Given the description of an element on the screen output the (x, y) to click on. 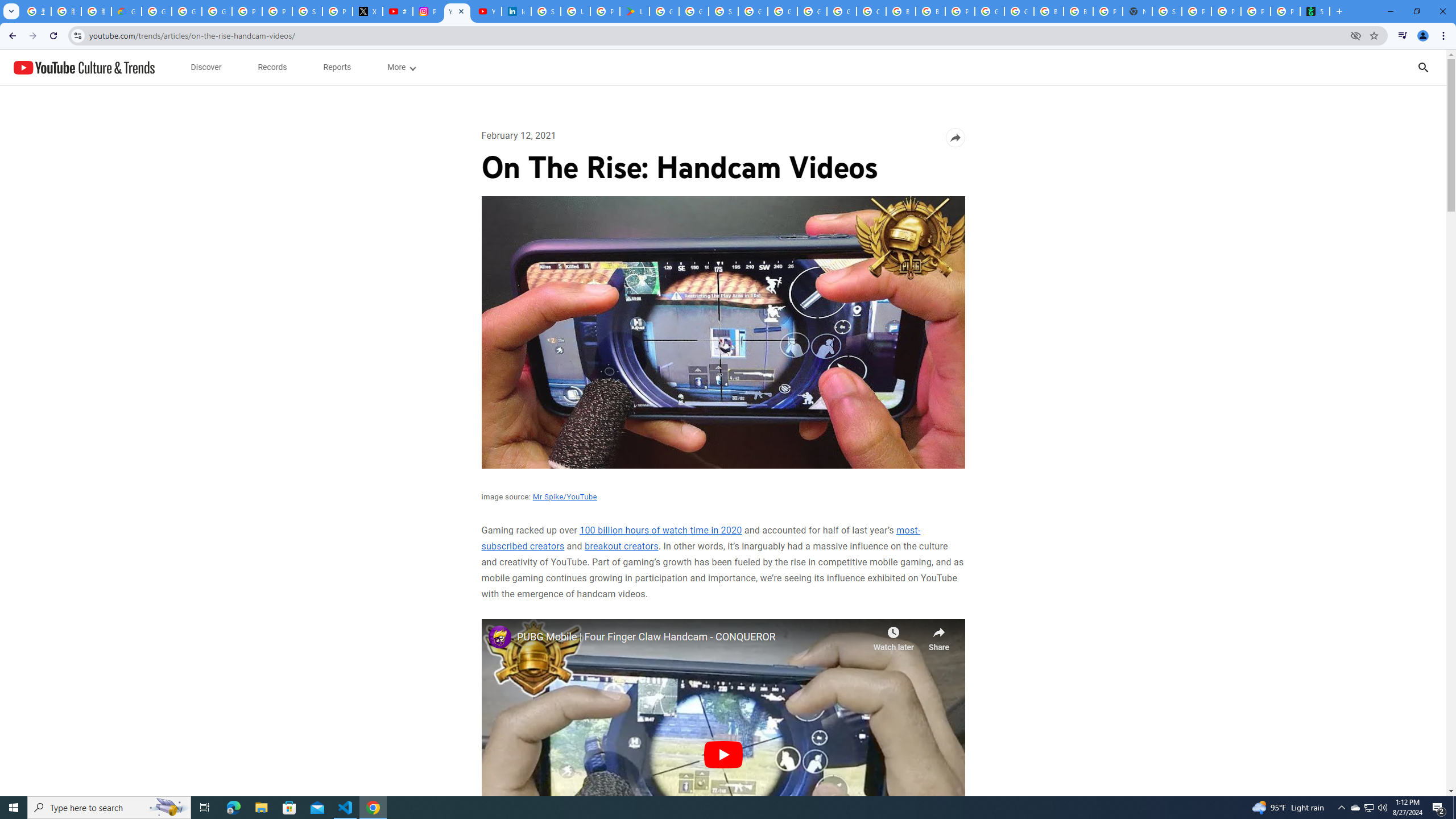
Google Cloud Platform (989, 11)
Google Workspace - Specific Terms (693, 11)
Photo image of Mr Spike (499, 636)
subnav-Reports menupopup (336, 67)
Last Shelter: Survival - Apps on Google Play (634, 11)
Browse Chrome as a guest - Computer - Google Chrome Help (930, 11)
subnav-More menupopup (401, 67)
breakout creators (621, 546)
New Tab (1137, 11)
